Given the description of an element on the screen output the (x, y) to click on. 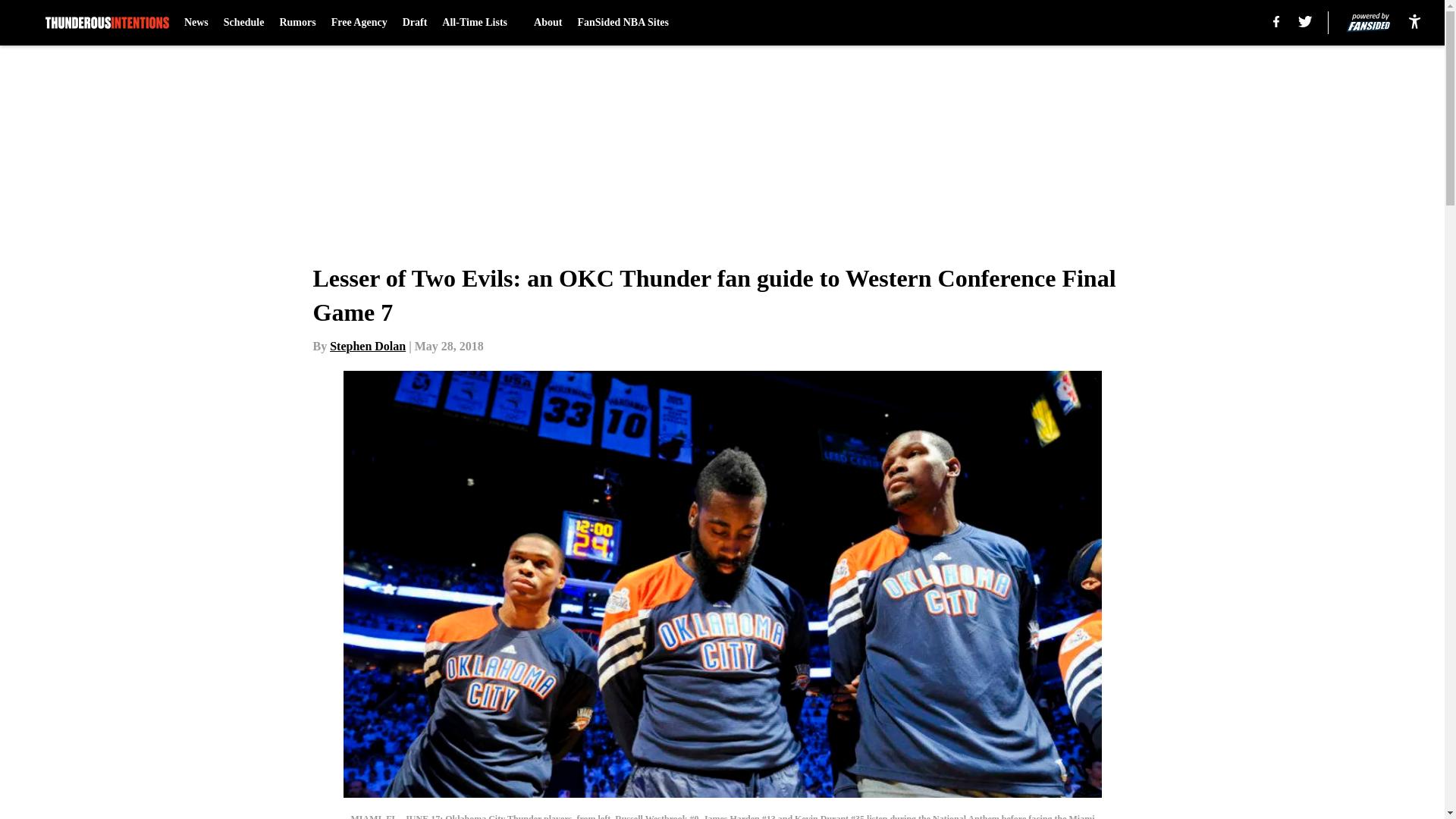
About (548, 22)
FanSided NBA Sites (622, 22)
Rumors (297, 22)
Draft (415, 22)
Stephen Dolan (368, 345)
All-Time Lists (480, 22)
News (196, 22)
Free Agency (359, 22)
Schedule (244, 22)
